Given the description of an element on the screen output the (x, y) to click on. 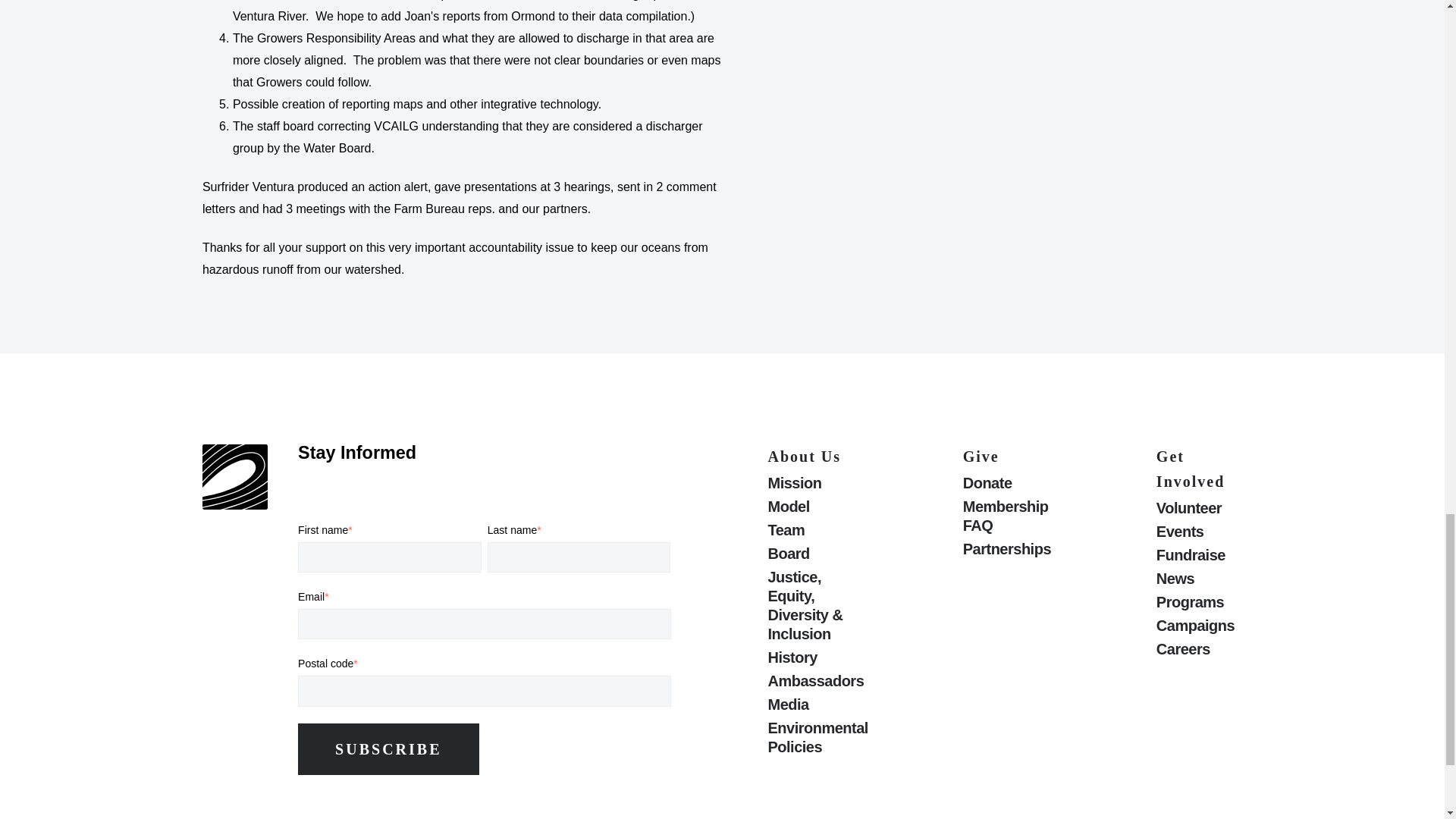
Mission (818, 483)
Media (818, 704)
Team (818, 529)
History (818, 657)
Fundraise (1198, 555)
Get Involved (1190, 476)
Membership FAQ (1013, 516)
Events (1198, 531)
Subscribe (388, 748)
Volunteer (1198, 507)
